Given the description of an element on the screen output the (x, y) to click on. 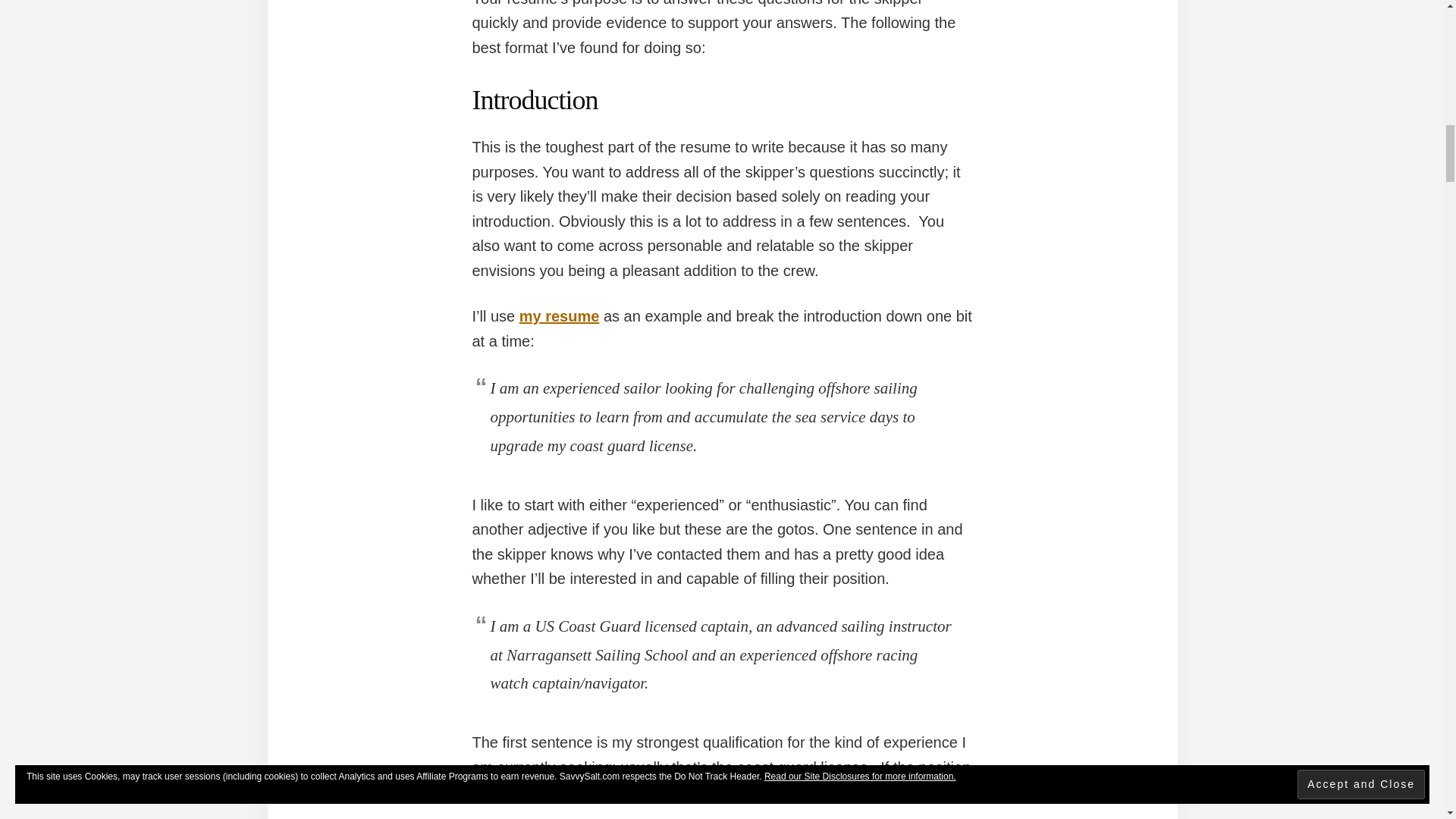
my resume (559, 315)
